Given the description of an element on the screen output the (x, y) to click on. 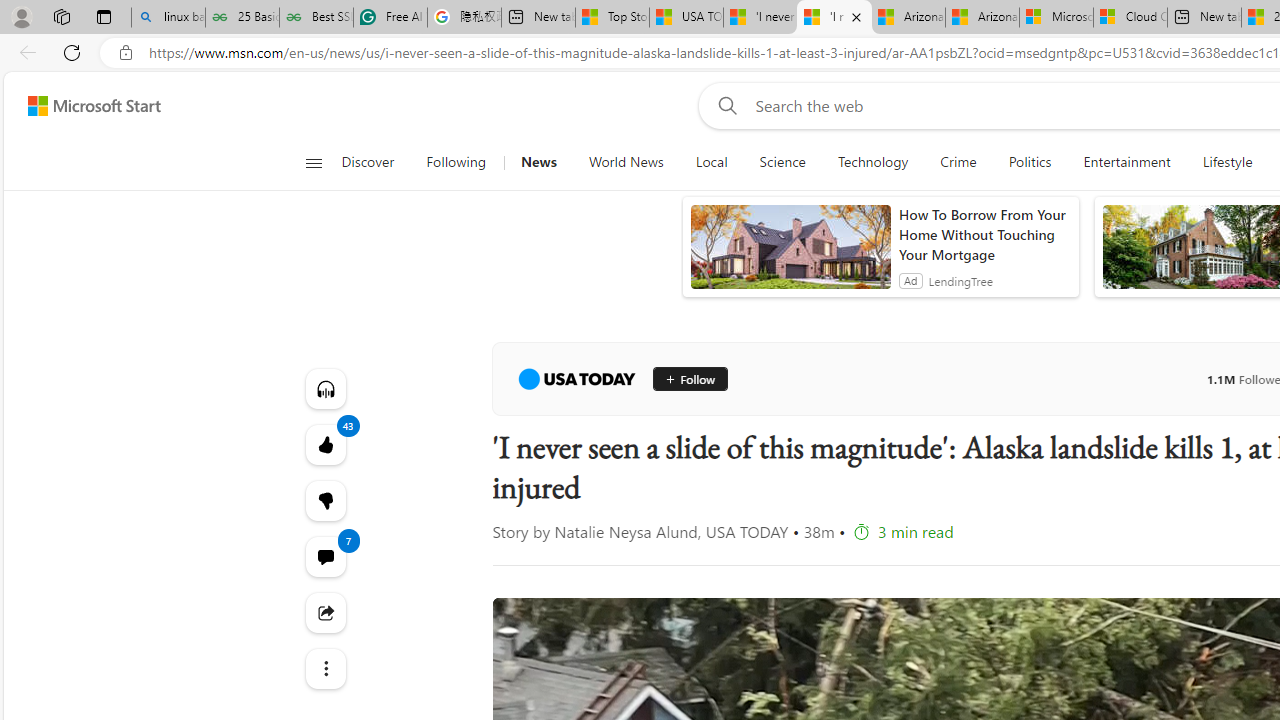
Open navigation menu (313, 162)
linux basic - Search (167, 17)
LendingTree (960, 280)
